Given the description of an element on the screen output the (x, y) to click on. 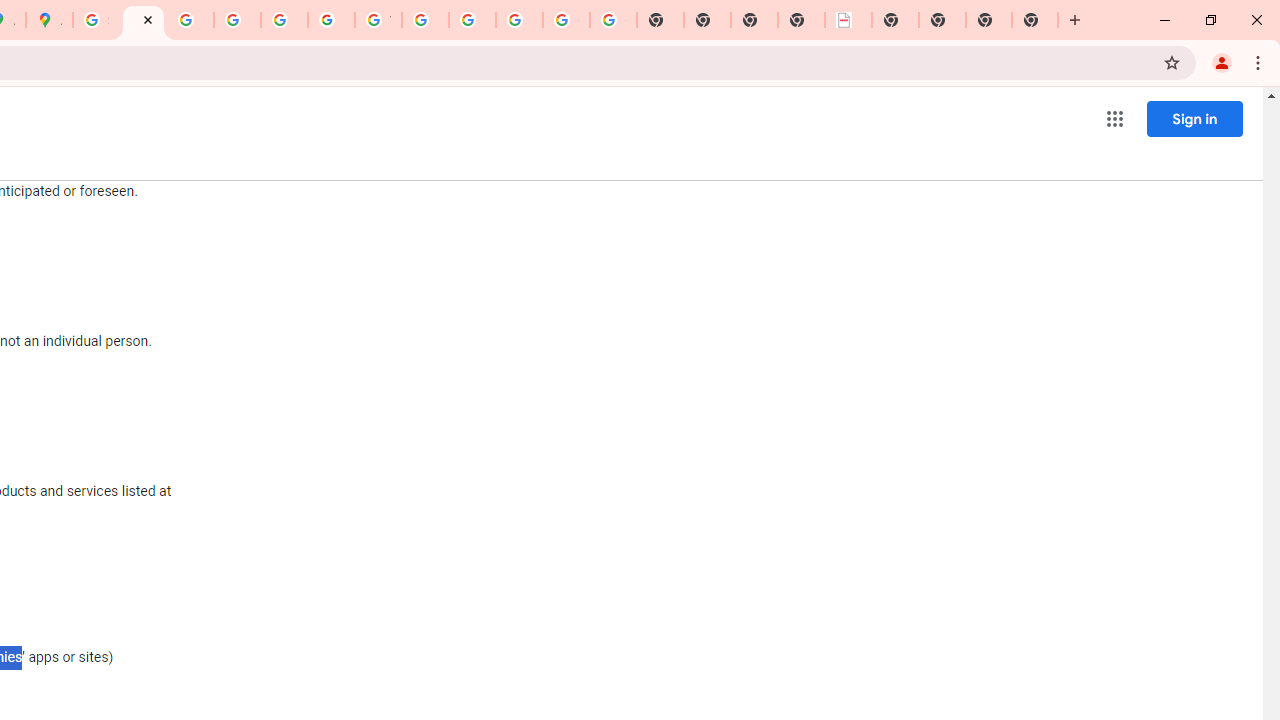
Sign in (1194, 118)
Browse Chrome as a guest - Computer - Google Chrome Help (425, 20)
Google apps (1114, 118)
Privacy Help Center - Policies Help (237, 20)
